Given the description of an element on the screen output the (x, y) to click on. 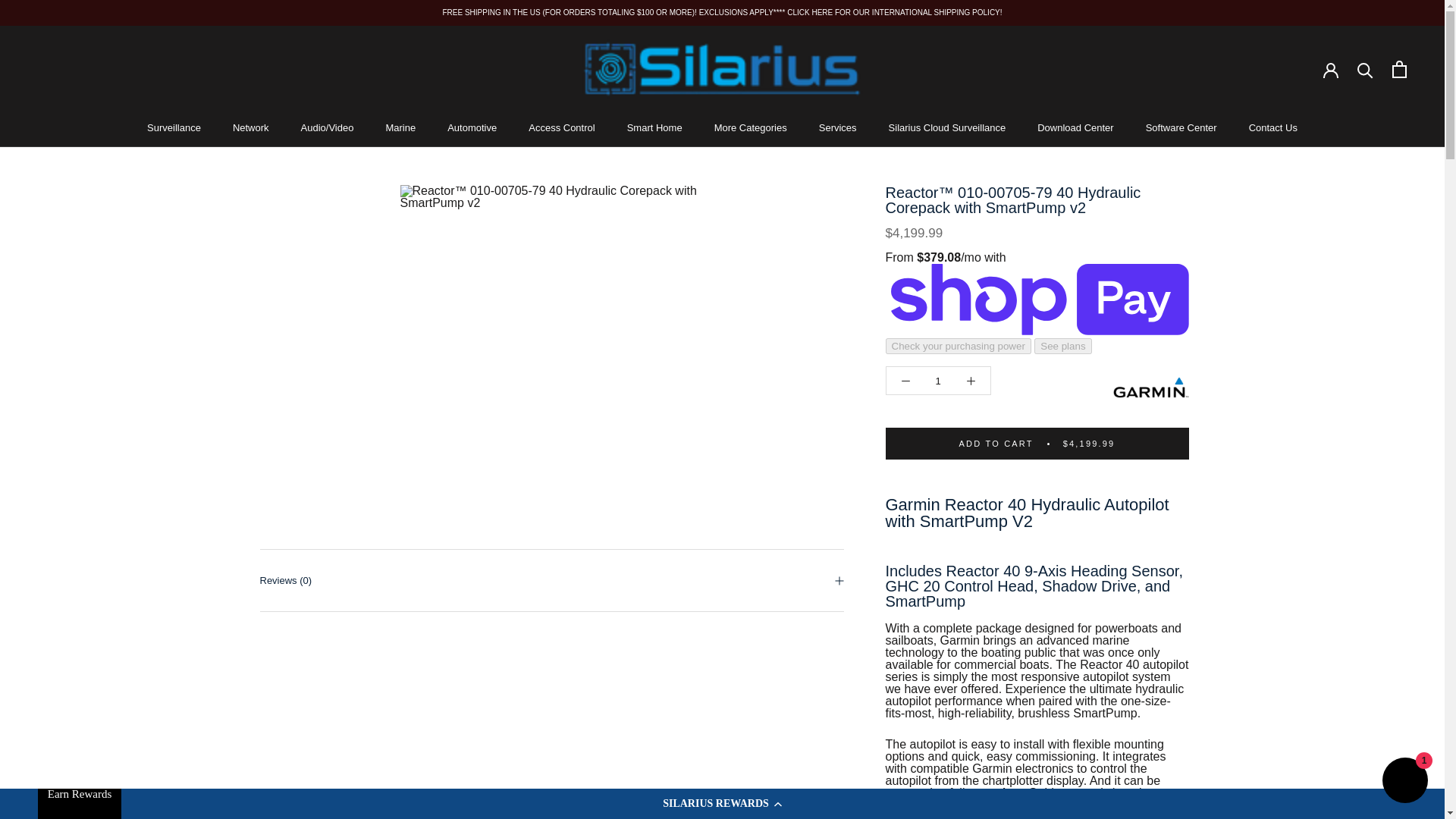
Garmin (1151, 387)
1 (938, 379)
